Given the description of an element on the screen output the (x, y) to click on. 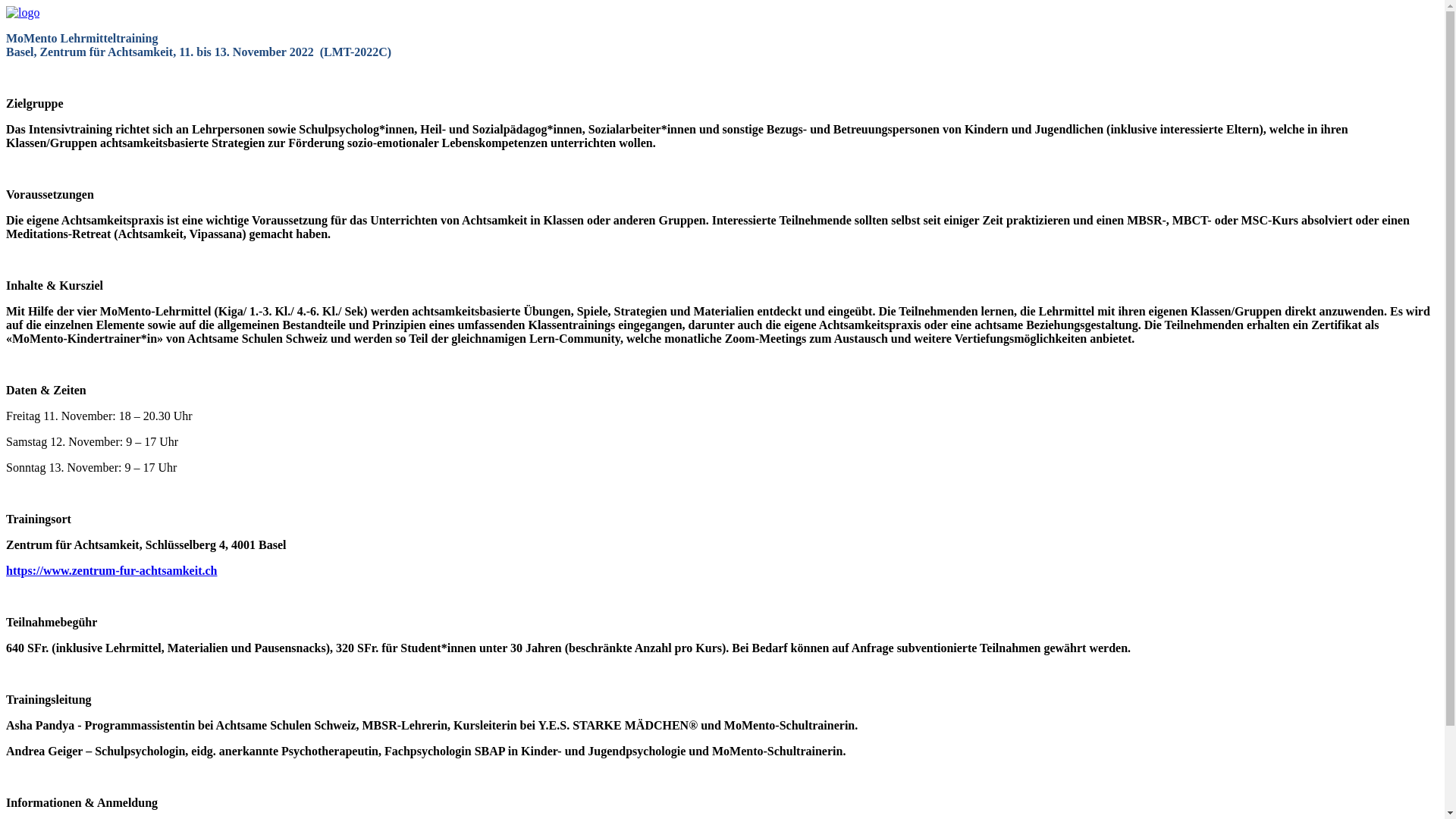
https://www.zentrum-fur-achtsamkeit.ch Element type: text (111, 570)
logo Element type: hover (22, 12)
